Given the description of an element on the screen output the (x, y) to click on. 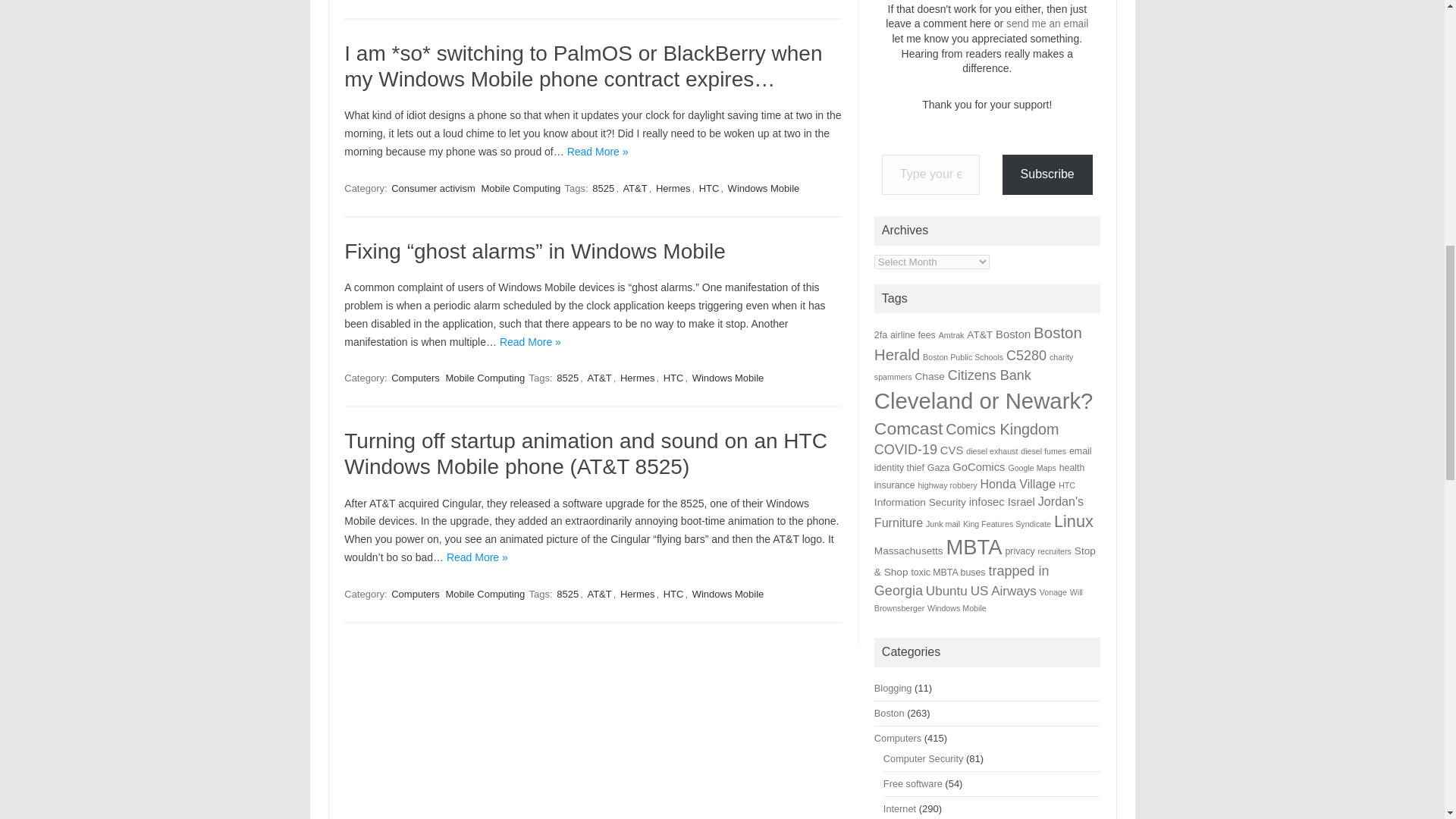
Hermes (637, 377)
Windows Mobile (764, 187)
Mobile Computing (520, 187)
Please fill in this field. (930, 174)
HTC (673, 377)
Mobile Computing (484, 377)
8525 (603, 187)
Consumer activism (433, 187)
HTC (708, 187)
Computers (415, 377)
